Given the description of an element on the screen output the (x, y) to click on. 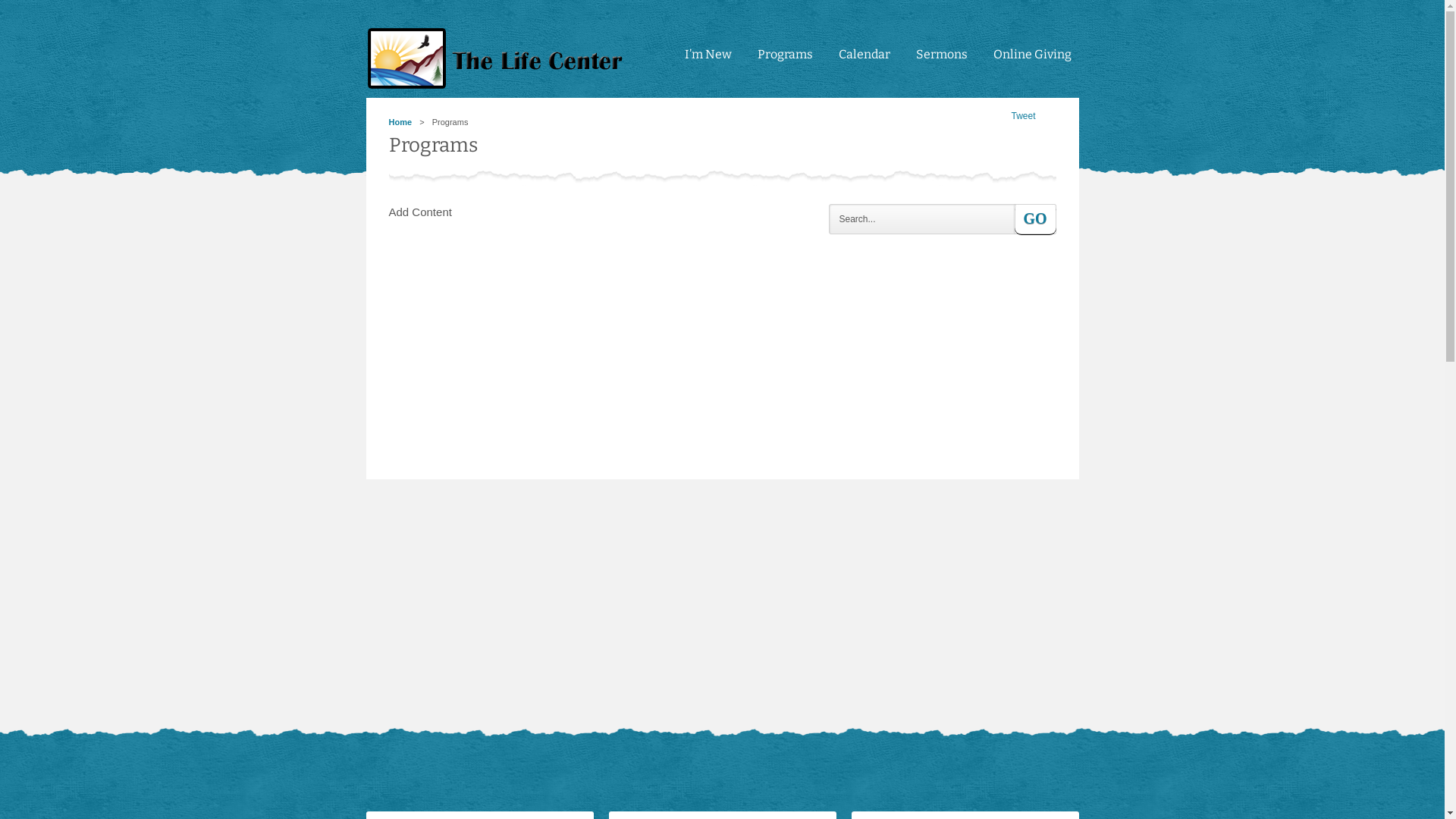
Sermons Element type: text (941, 61)
Tweet Element type: text (1022, 115)
Programs Element type: text (784, 61)
Search... Element type: hover (920, 218)
Home Element type: text (399, 121)
Online Giving Element type: text (1032, 61)
Go Element type: text (1035, 218)
tlc4me Element type: text (497, 58)
Calendar Element type: text (864, 61)
